Given the description of an element on the screen output the (x, y) to click on. 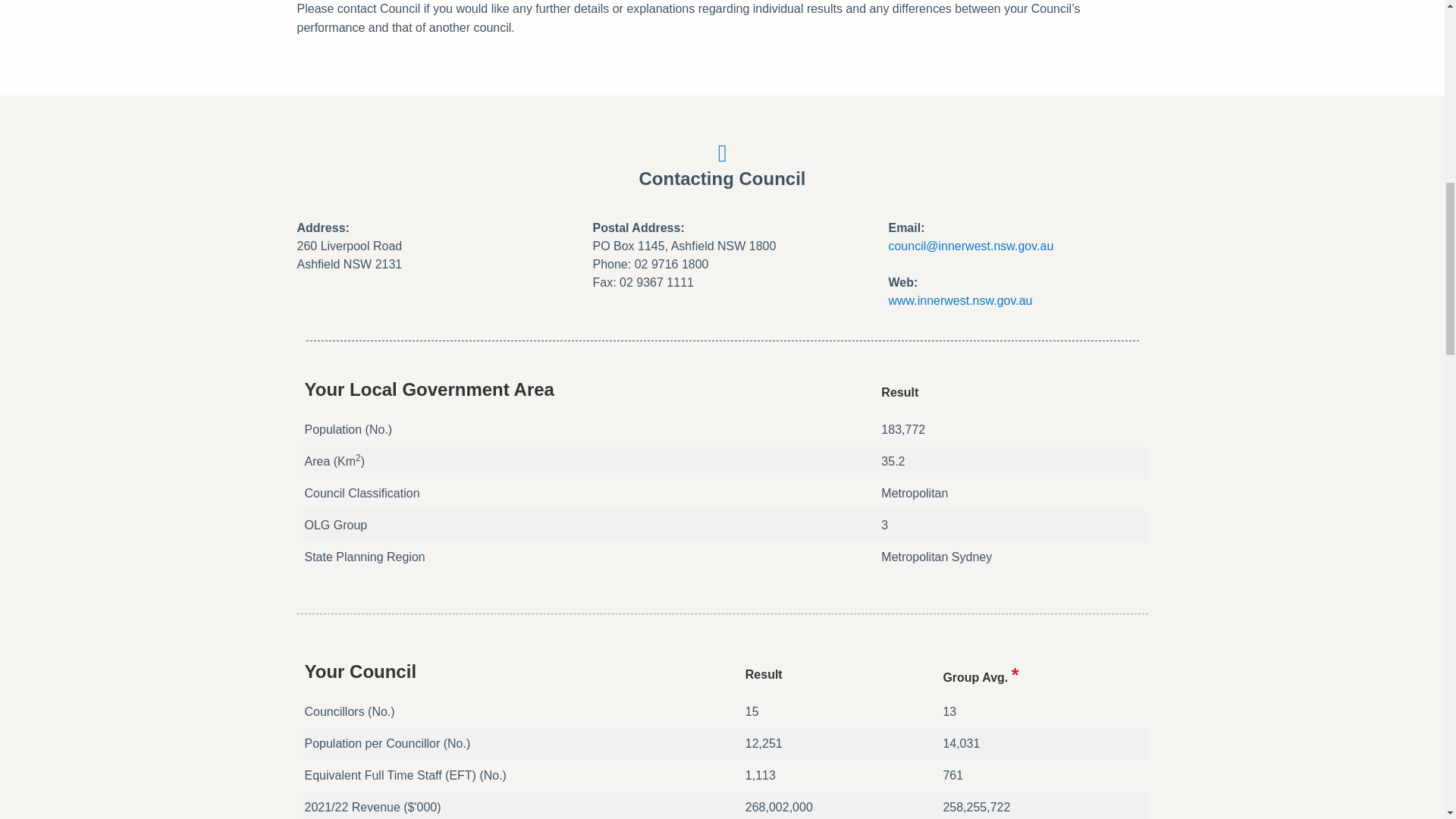
www.innerwest.nsw.gov.au (960, 300)
